Given the description of an element on the screen output the (x, y) to click on. 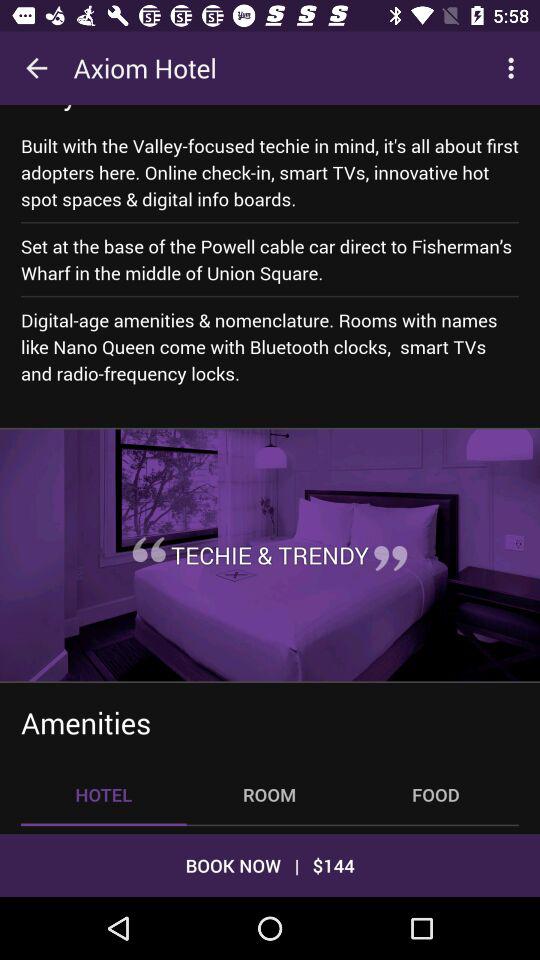
turn off the icon next to hotel icon (269, 794)
